Given the description of an element on the screen output the (x, y) to click on. 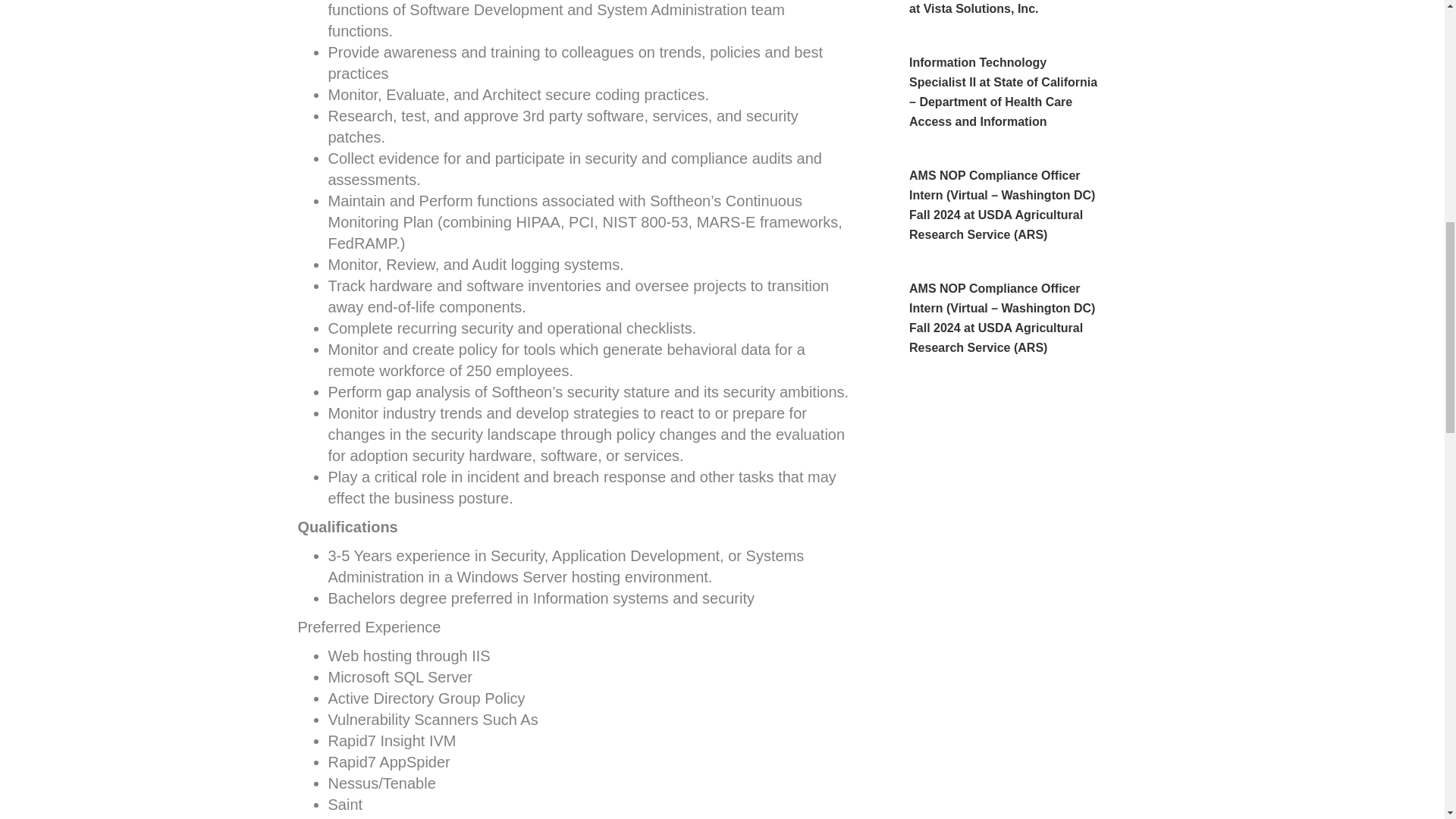
Business Development Specialist at Vista Solutions, Inc. (1005, 7)
